Given the description of an element on the screen output the (x, y) to click on. 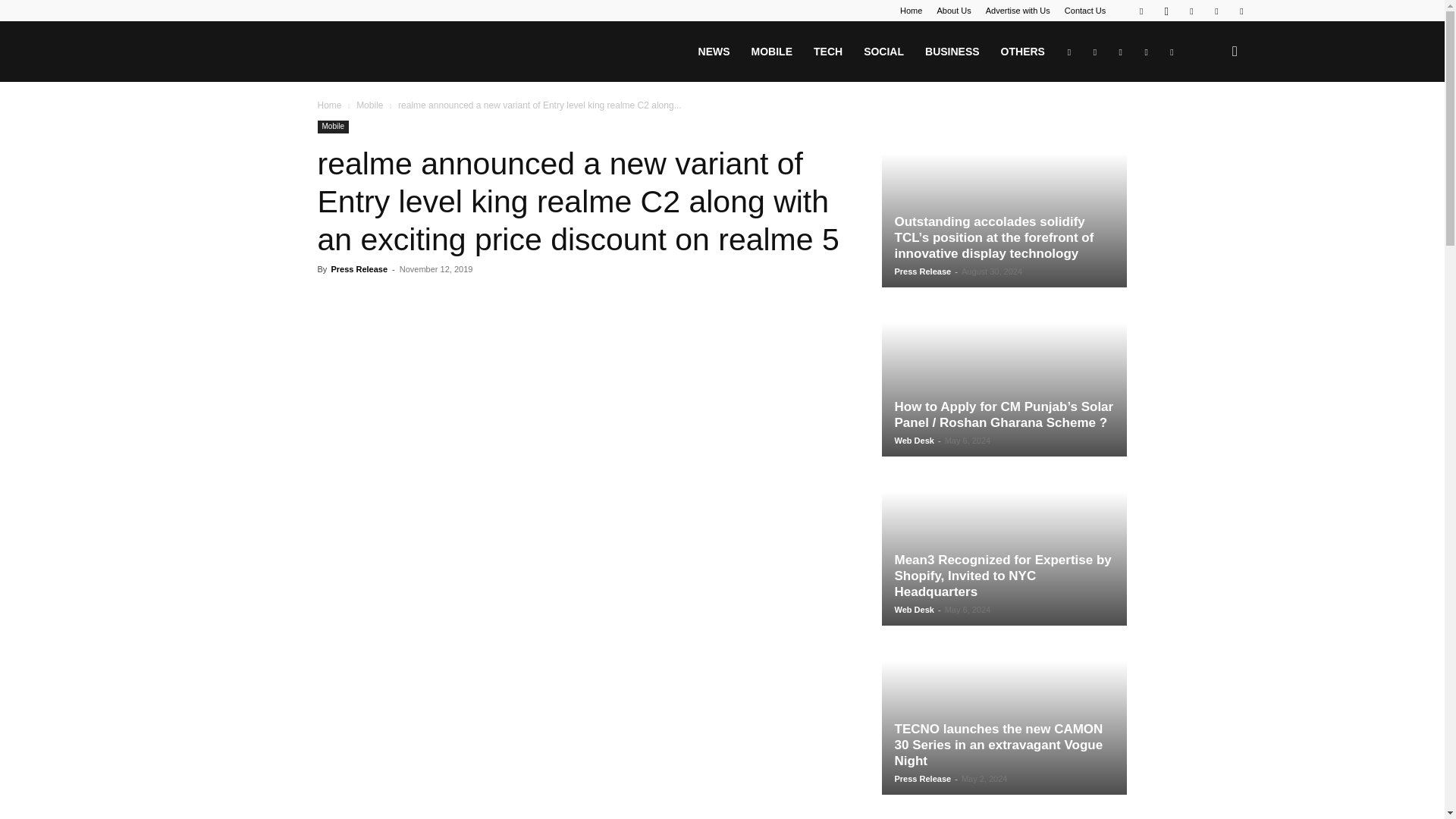
Youtube (1241, 10)
Advertise with Us (1017, 10)
Twitter (1216, 10)
Instagram (1165, 10)
Pinterest (1190, 10)
Facebook (1141, 10)
Contact Us (1084, 10)
Home (910, 10)
About Us (953, 10)
